Given the description of an element on the screen output the (x, y) to click on. 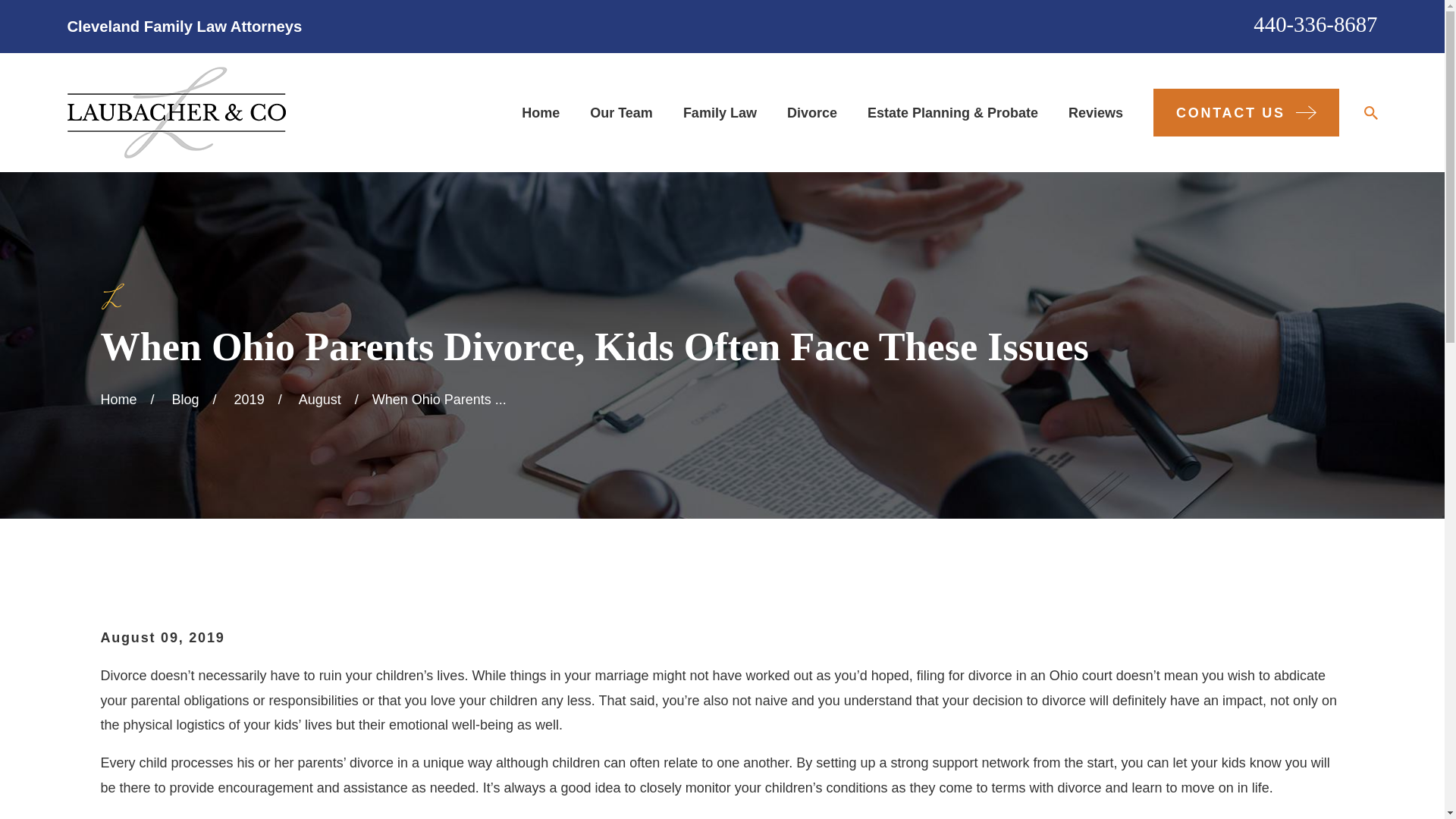
Reviews (1095, 112)
440-336-8687 (1315, 24)
Home (175, 112)
Our Team (620, 112)
Go Home (118, 399)
Divorce (812, 112)
Family Law (719, 112)
